Given the description of an element on the screen output the (x, y) to click on. 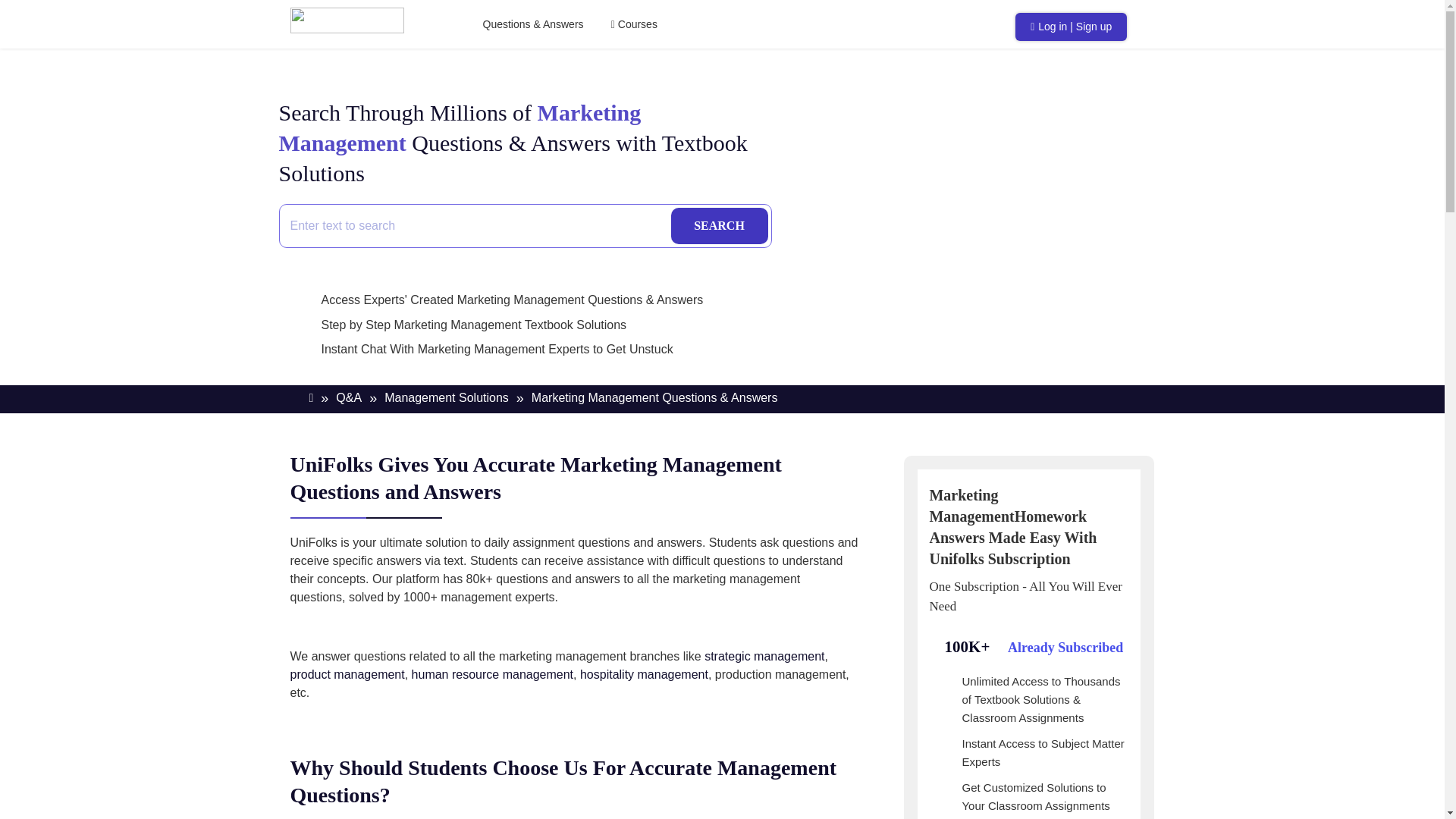
Search (718, 226)
Search (718, 226)
